Given the description of an element on the screen output the (x, y) to click on. 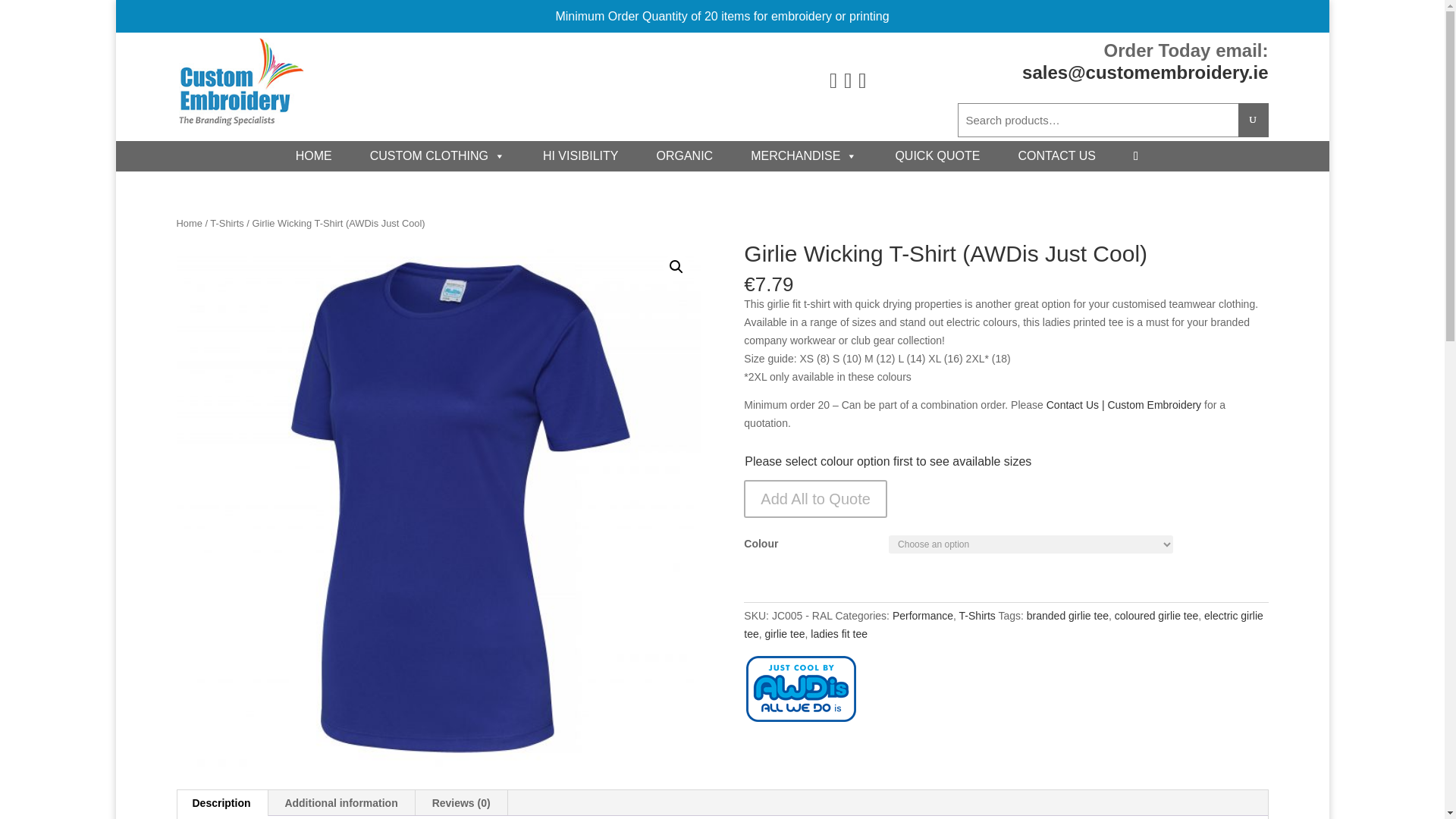
MERCHANDISE (804, 155)
AWDis Just Cool (800, 691)
QUICK QUOTE (937, 155)
HI VISIBILITY (580, 155)
HOME (313, 155)
ORGANIC (684, 155)
CUSTOM CLOTHING (437, 155)
Search (1252, 120)
